Given the description of an element on the screen output the (x, y) to click on. 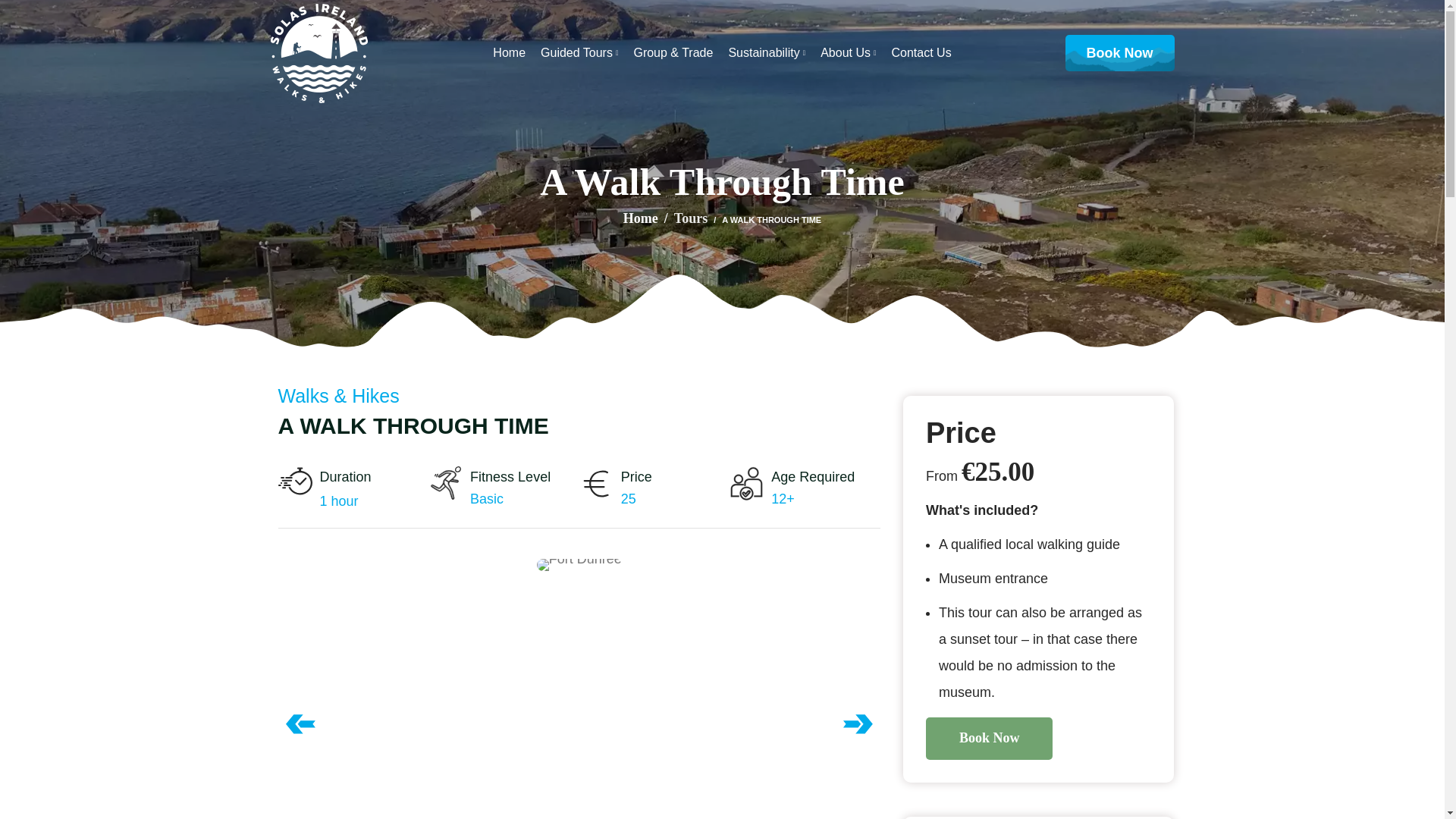
Guided Tours (578, 52)
Book Now (989, 738)
Book Now (1119, 53)
Home (509, 52)
Home (648, 218)
Contact Us (921, 52)
Tours (690, 218)
Sustainability (766, 52)
About Us (848, 52)
